Given the description of an element on the screen output the (x, y) to click on. 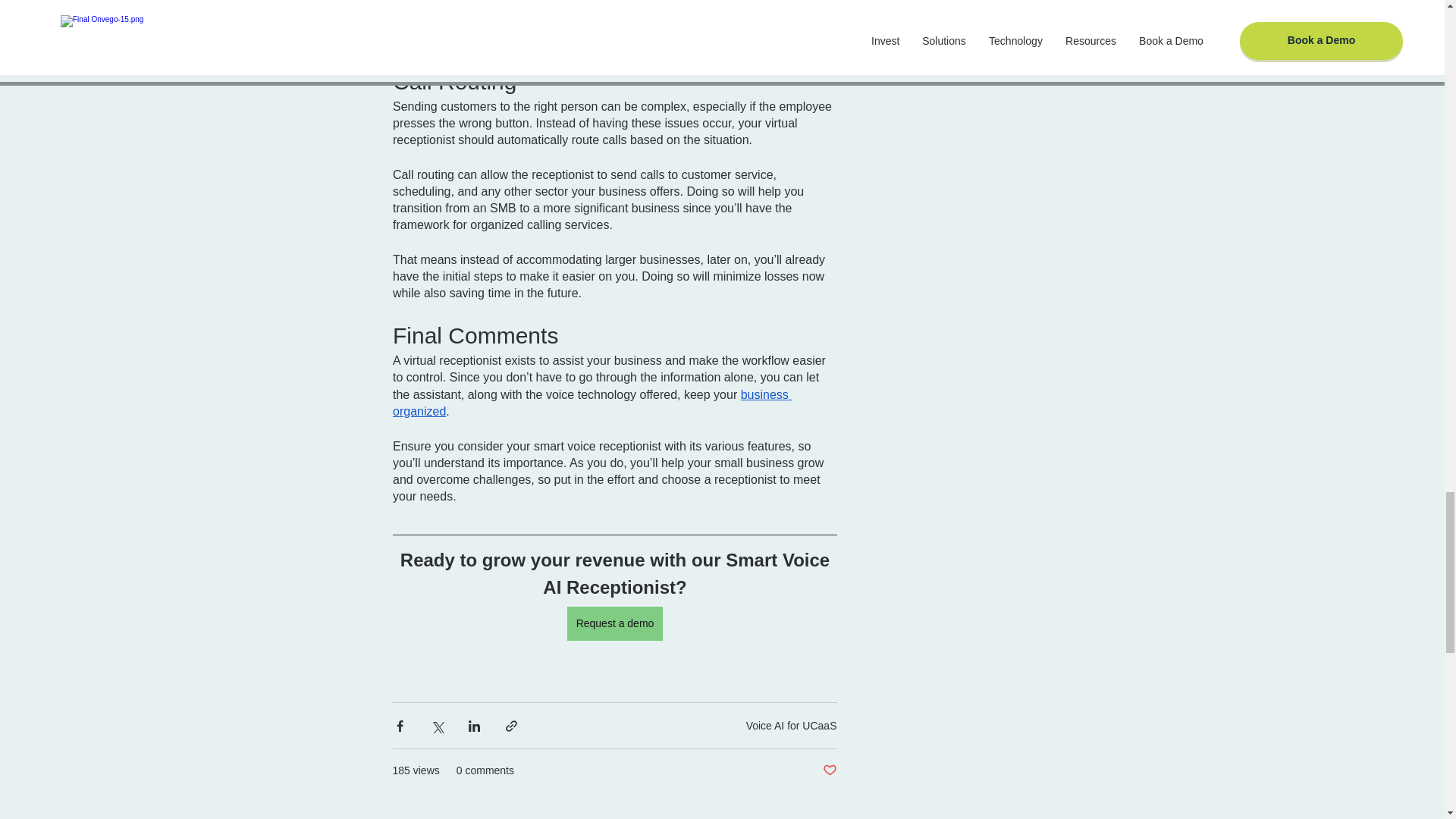
business organized (592, 402)
Post not marked as liked (828, 770)
Request a demo (614, 623)
Voice AI for UCaaS (791, 725)
